Given the description of an element on the screen output the (x, y) to click on. 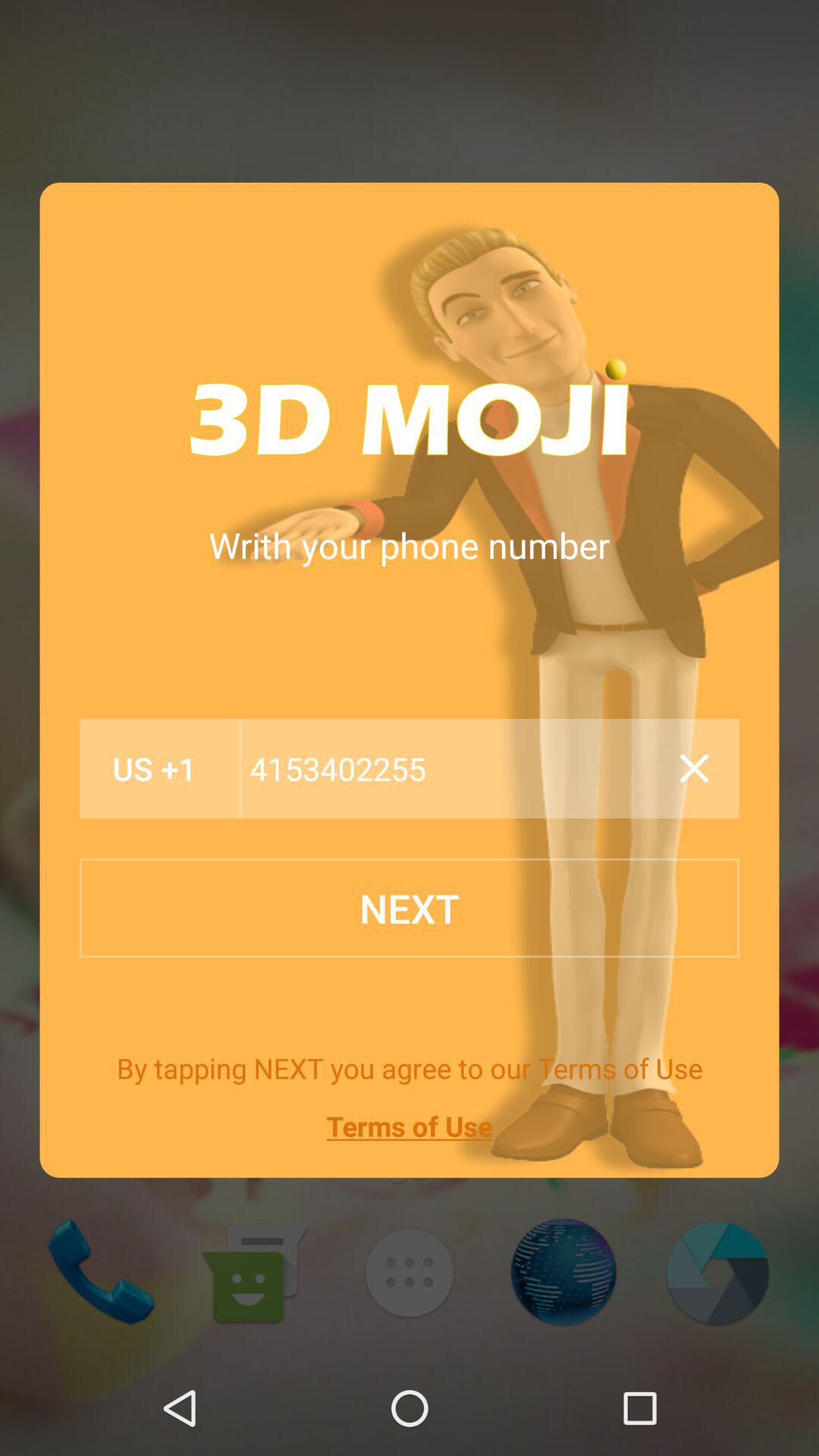
open icon to the right of the 4153402255 icon (694, 768)
